Given the description of an element on the screen output the (x, y) to click on. 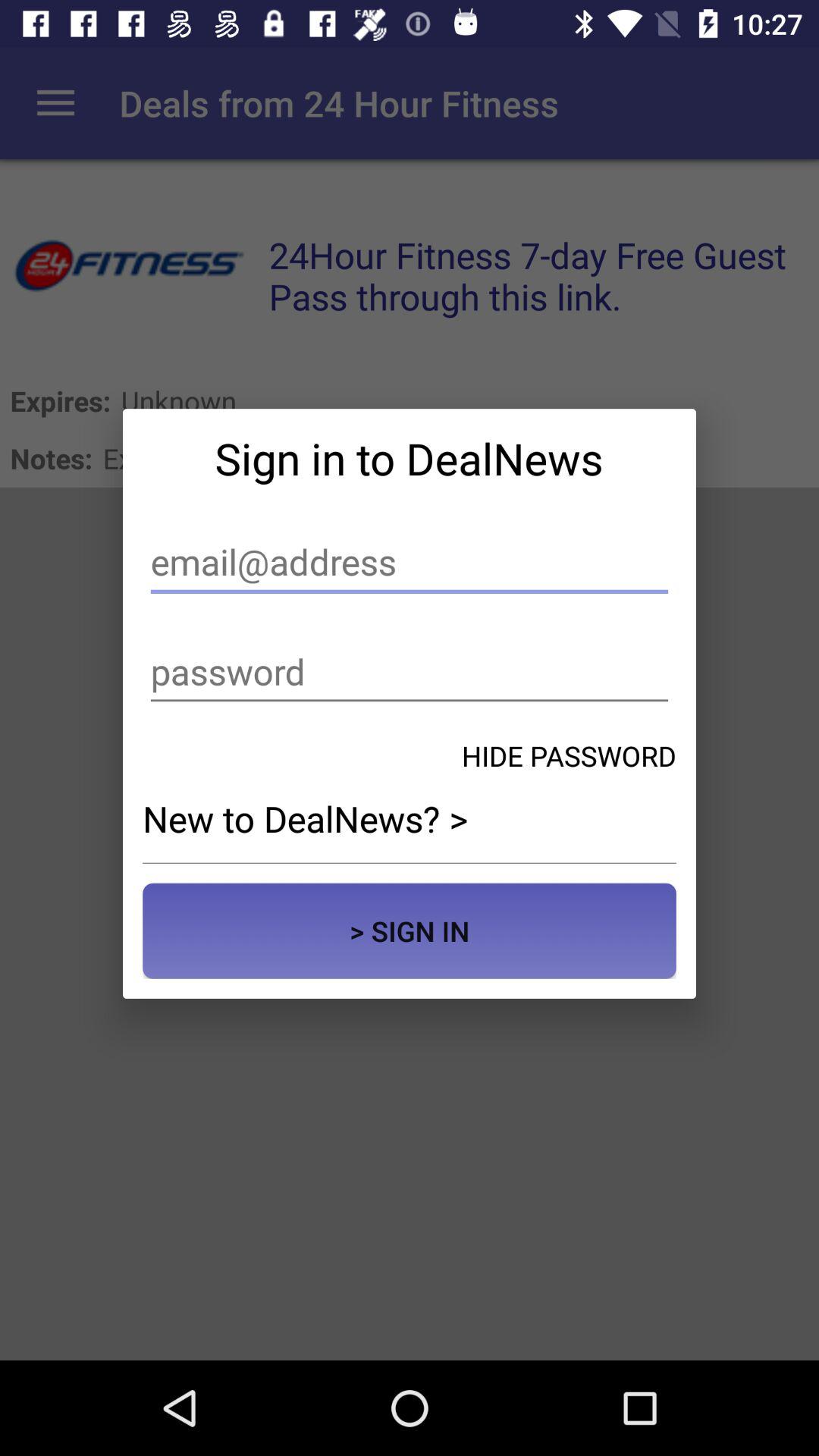
enter a email (409, 562)
